Given the description of an element on the screen output the (x, y) to click on. 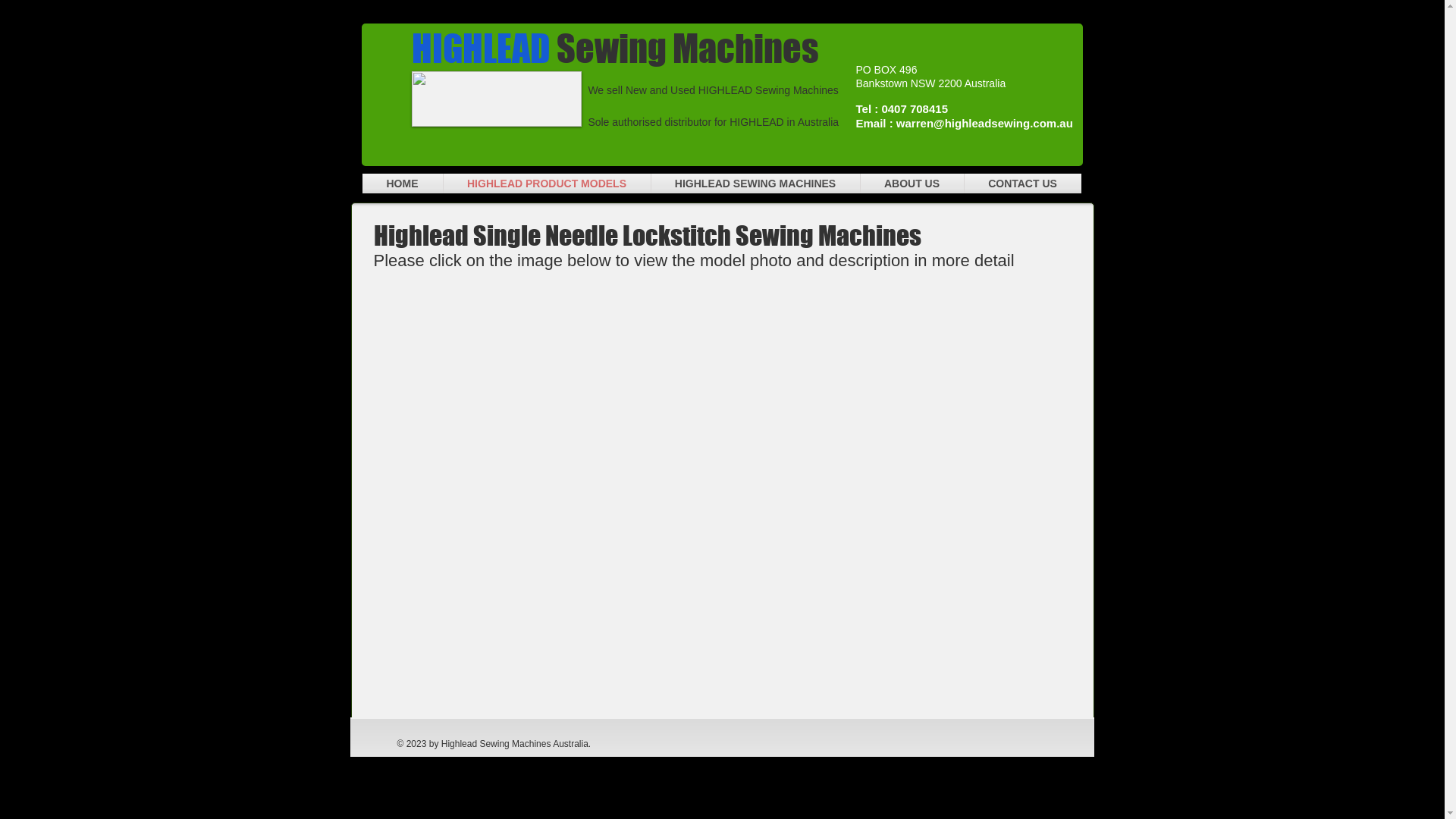
HIGHLEAD PRODUCT MODELS Element type: text (545, 183)
HOME Element type: text (402, 183)
warren@highleadsewing.com.au Element type: text (984, 122)
ABOUT US Element type: text (911, 183)
HIGHLEAD SEWING MACHINES Element type: text (754, 183)
CONTACT US Element type: text (1022, 183)
